Given the description of an element on the screen output the (x, y) to click on. 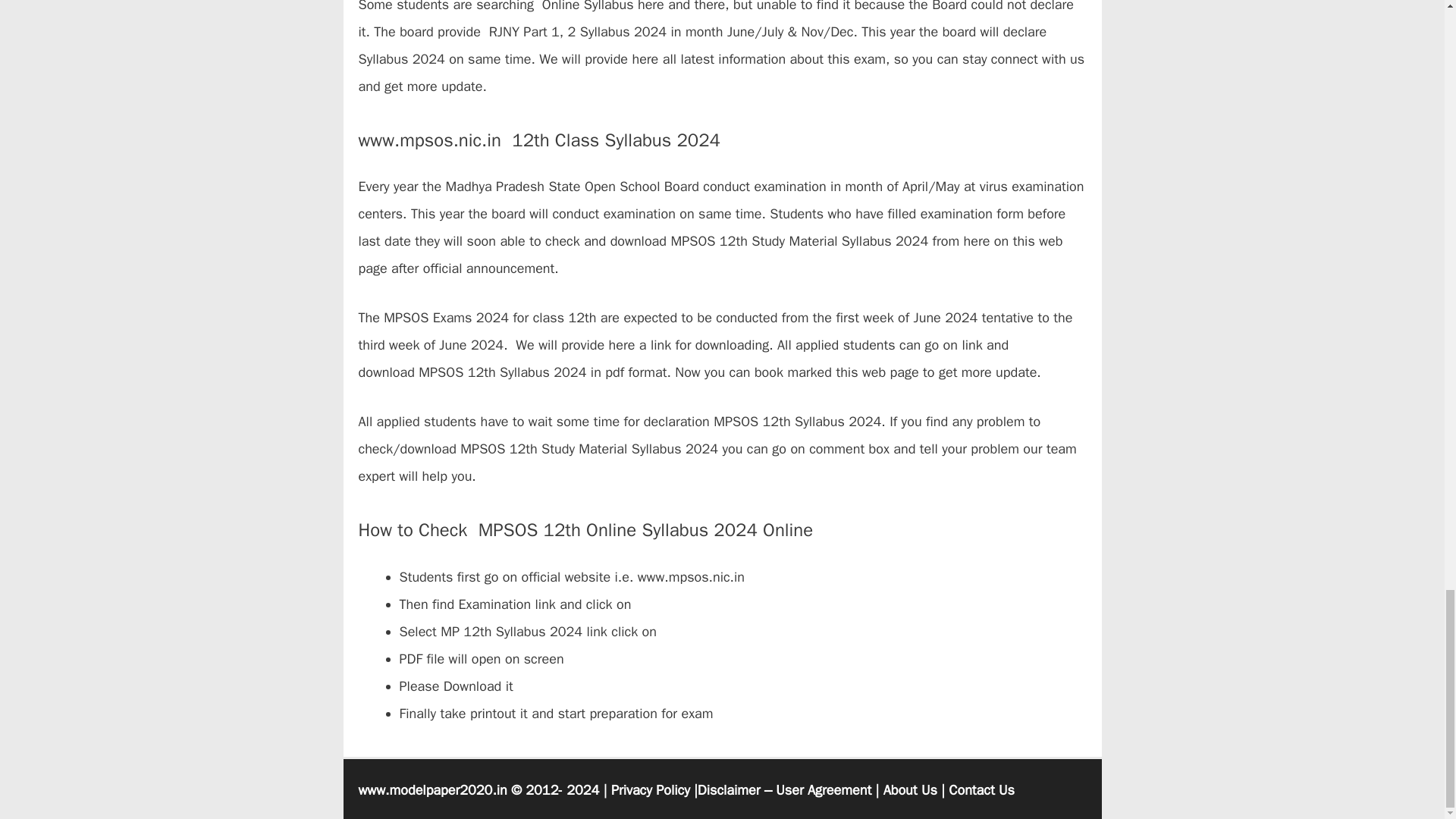
About Us (910, 790)
Contact Us (981, 790)
Privacy Policy (650, 790)
